Given the description of an element on the screen output the (x, y) to click on. 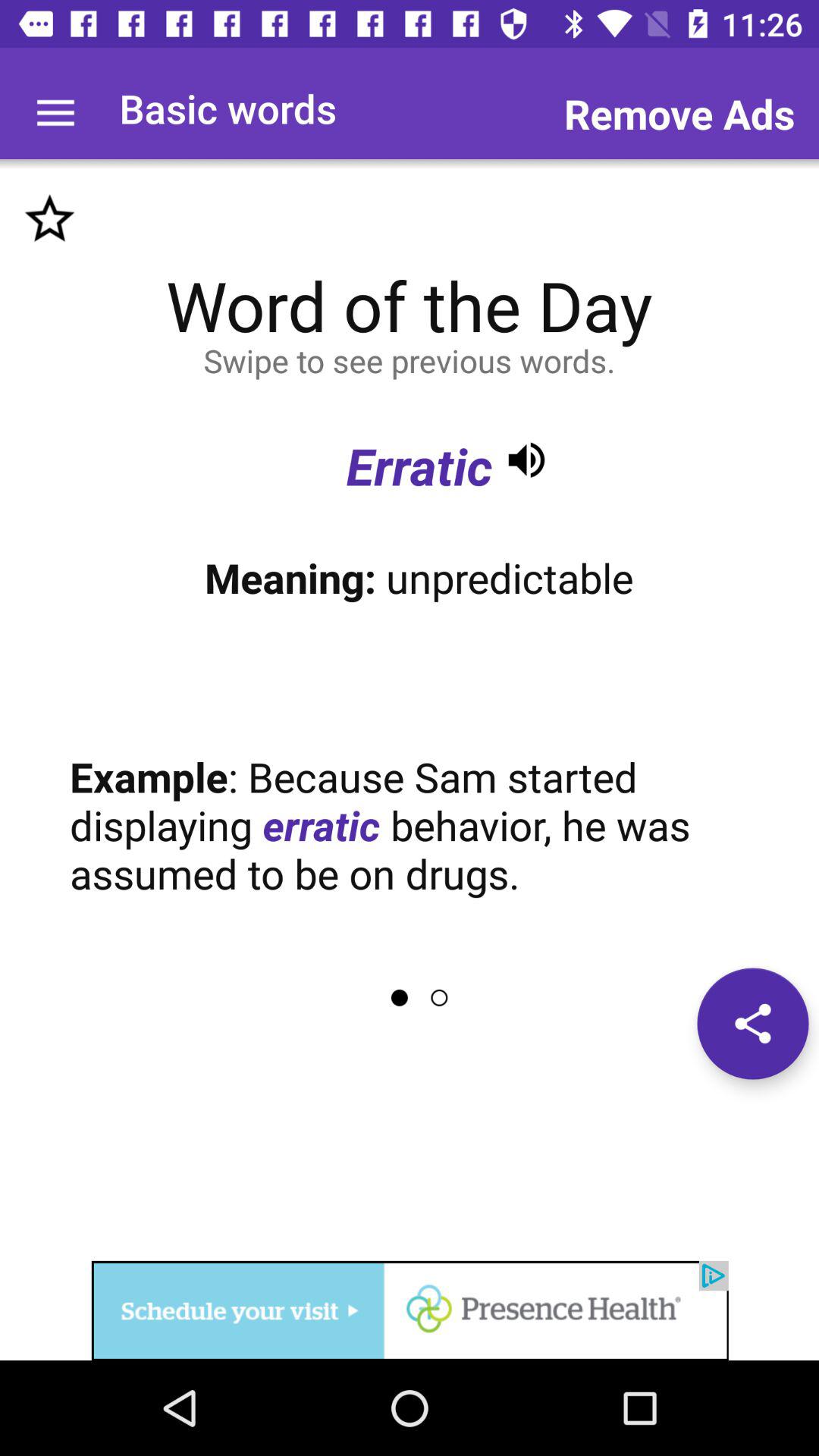
volume control (526, 460)
